Given the description of an element on the screen output the (x, y) to click on. 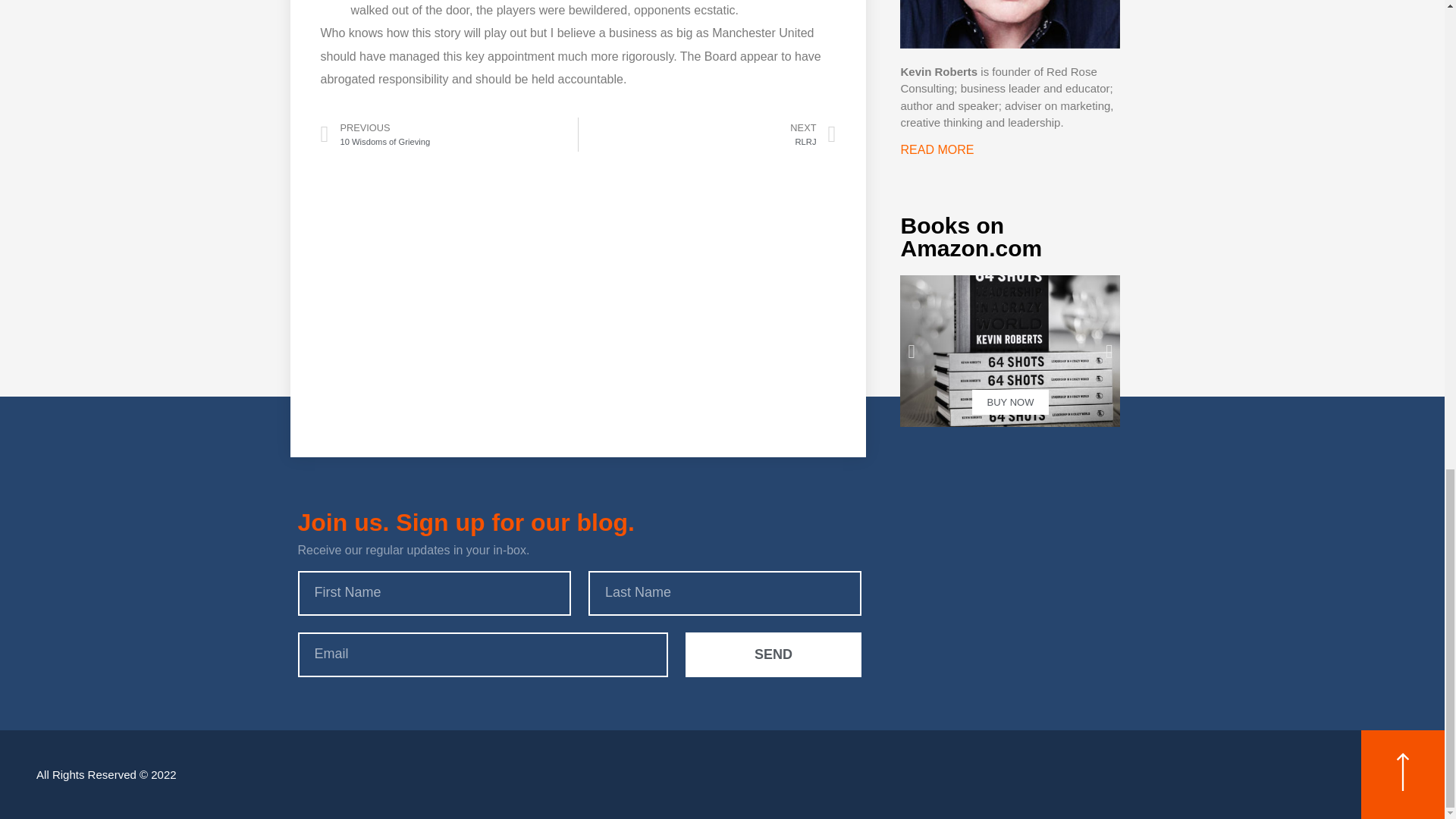
BUY NOW (706, 134)
READ MORE (1009, 350)
SEND (448, 134)
